Given the description of an element on the screen output the (x, y) to click on. 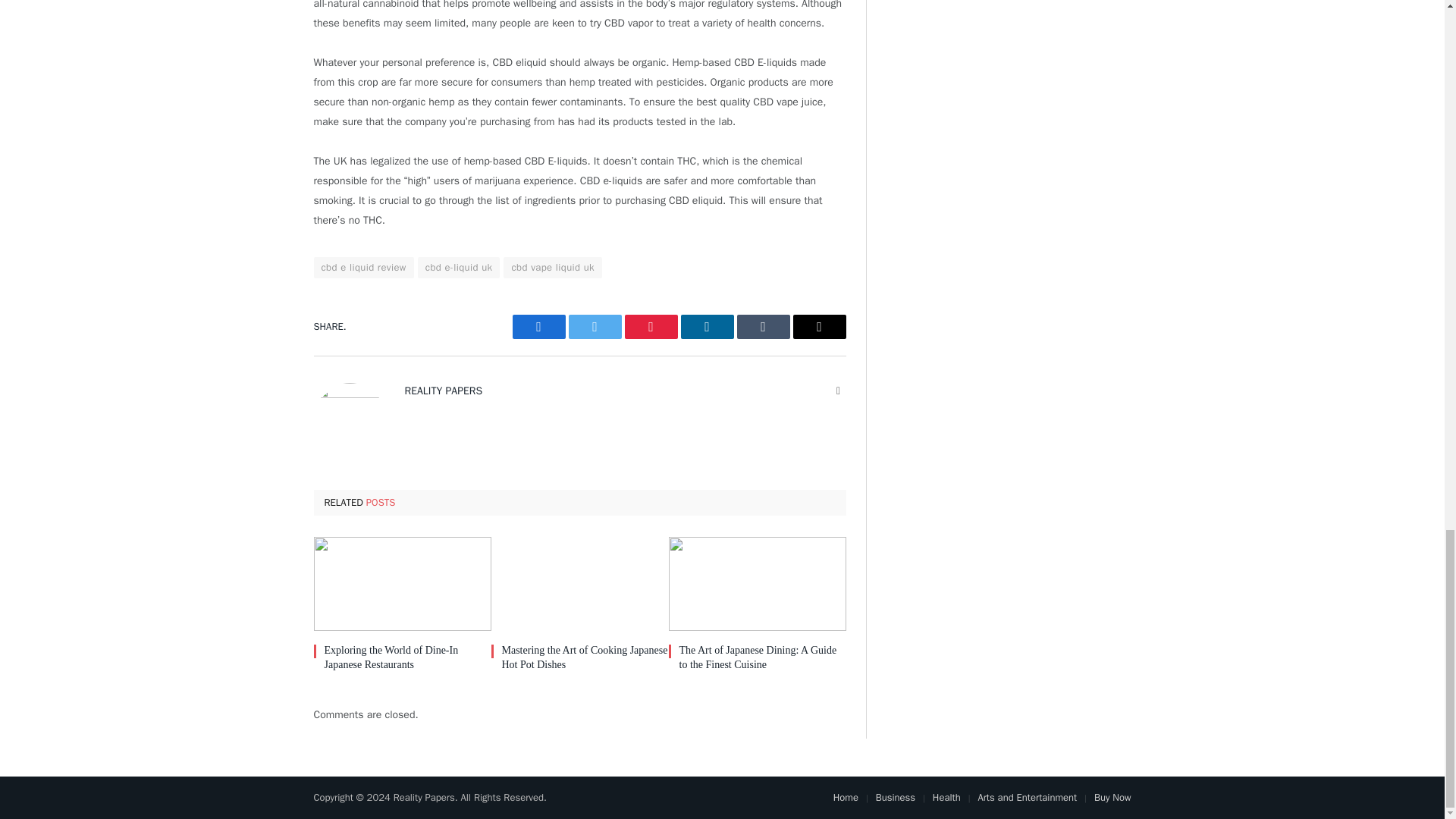
Website (838, 391)
Pinterest (651, 326)
LinkedIn (707, 326)
Share on Pinterest (651, 326)
Email (819, 326)
Share on Tumblr (763, 326)
cbd vape liquid uk (552, 267)
Facebook (539, 326)
Twitter (595, 326)
Share on LinkedIn (707, 326)
cbd e-liquid uk (458, 267)
Share on Facebook (539, 326)
Tumblr (763, 326)
cbd e liquid review (363, 267)
REALITY PAPERS (443, 390)
